Given the description of an element on the screen output the (x, y) to click on. 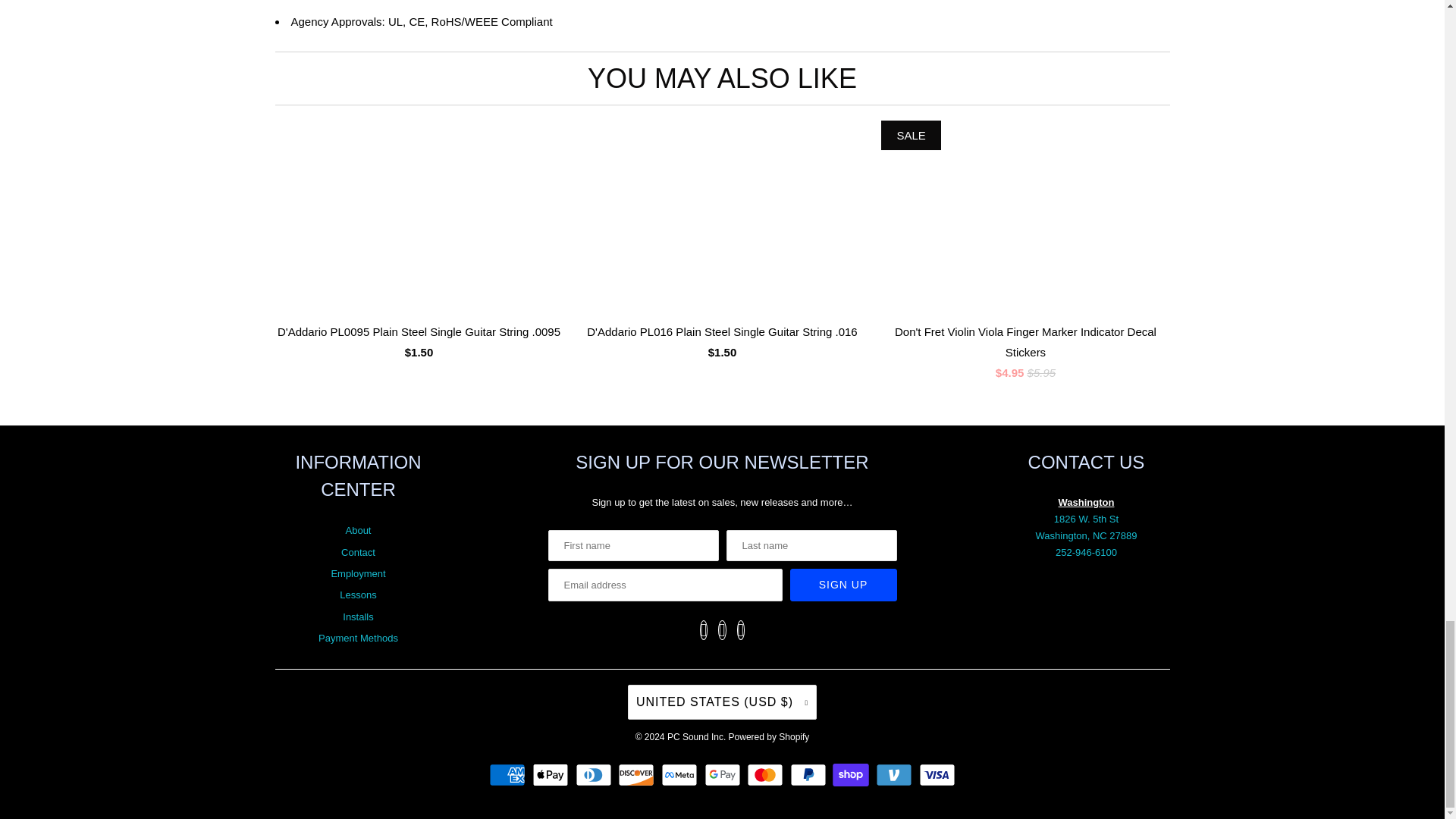
Meta Pay (681, 774)
Sign Up (843, 584)
PayPal (809, 774)
Shop Pay (852, 774)
Apple Pay (552, 774)
American Express (509, 774)
Discover (637, 774)
Visa (936, 774)
Mastercard (766, 774)
Venmo (895, 774)
